Given the description of an element on the screen output the (x, y) to click on. 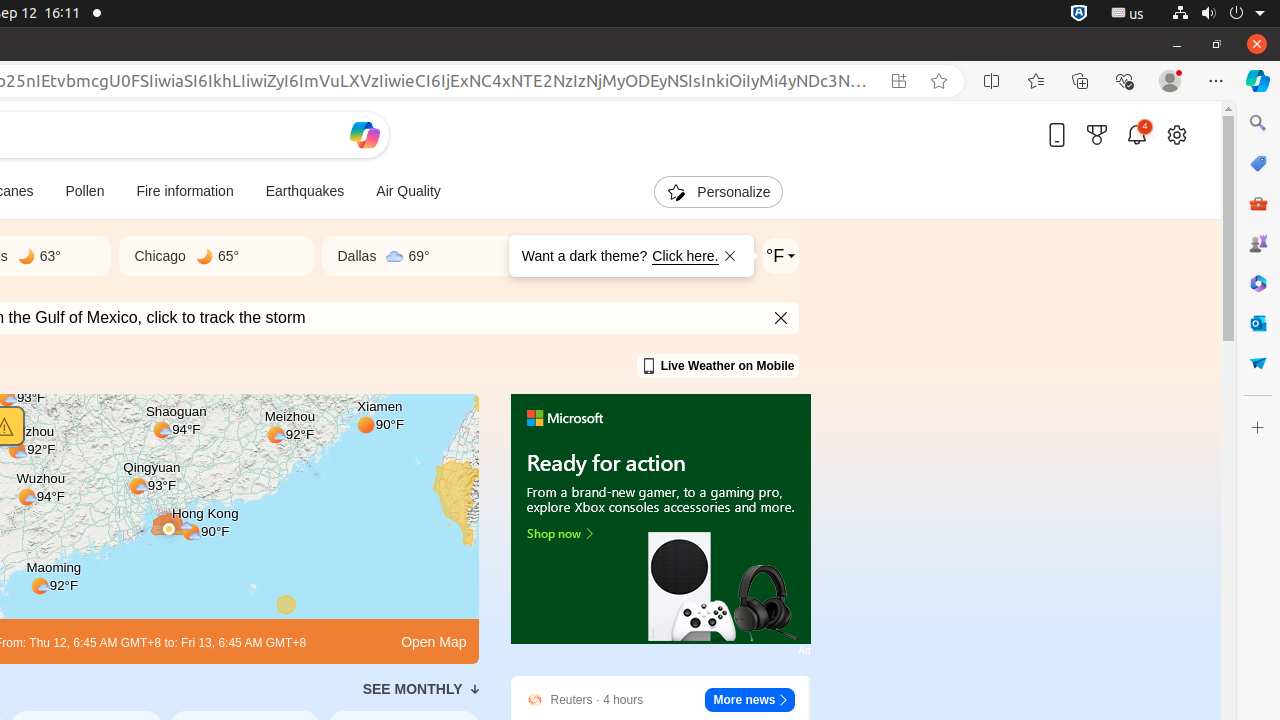
Customize Element type: push-button (1258, 428)
Settings and more (Alt+F) Element type: push-button (1216, 81)
Earthquakes Element type: link (305, 192)
App available. Install Microsoft Start Weather Element type: push-button (899, 81)
Personalize Element type: push-button (718, 191)
